Given the description of an element on the screen output the (x, y) to click on. 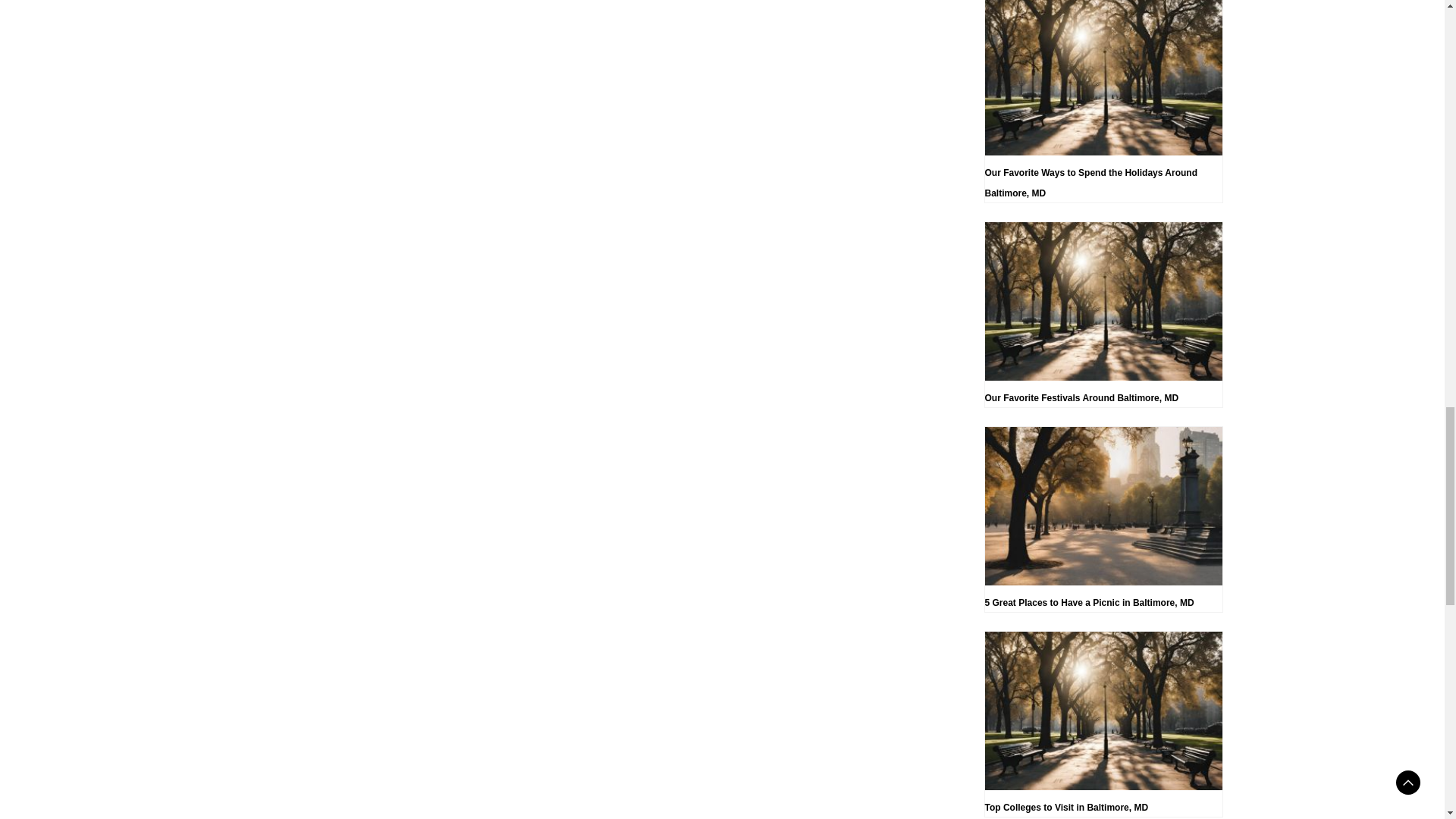
Our Favorite Ways to Spend the Holidays Around Baltimore, MD (1103, 101)
5 Great Places to Have a Picnic in Baltimore, MD (1103, 518)
Our Favorite Festivals Around Baltimore, MD (1103, 314)
Top Colleges to Visit in Baltimore, MD (1103, 723)
